Given the description of an element on the screen output the (x, y) to click on. 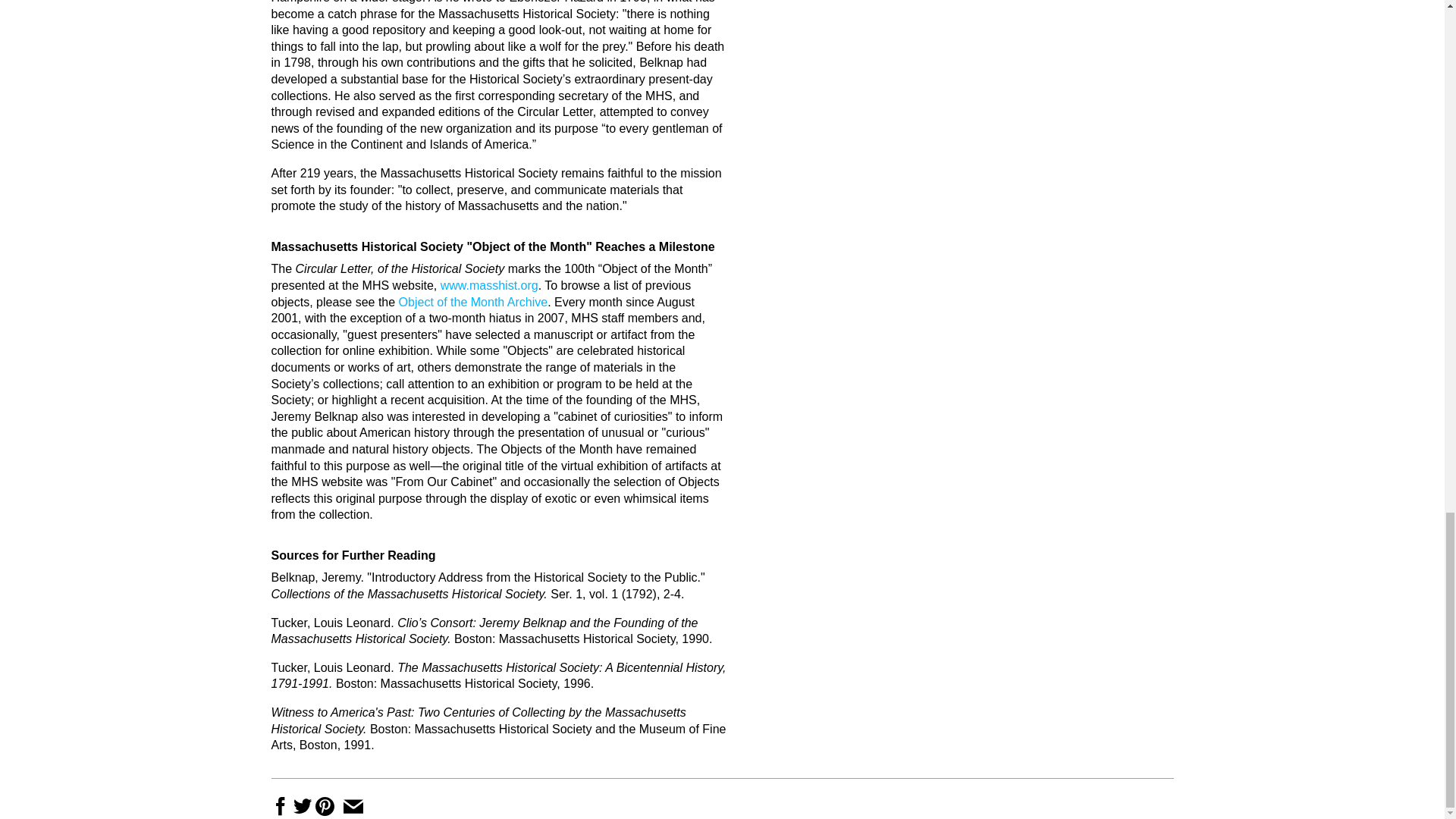
MHS website (489, 285)
Object of the Month Archive (473, 301)
MHS Object of the Month Archive (473, 301)
www.masshist.org (489, 285)
